Given the description of an element on the screen output the (x, y) to click on. 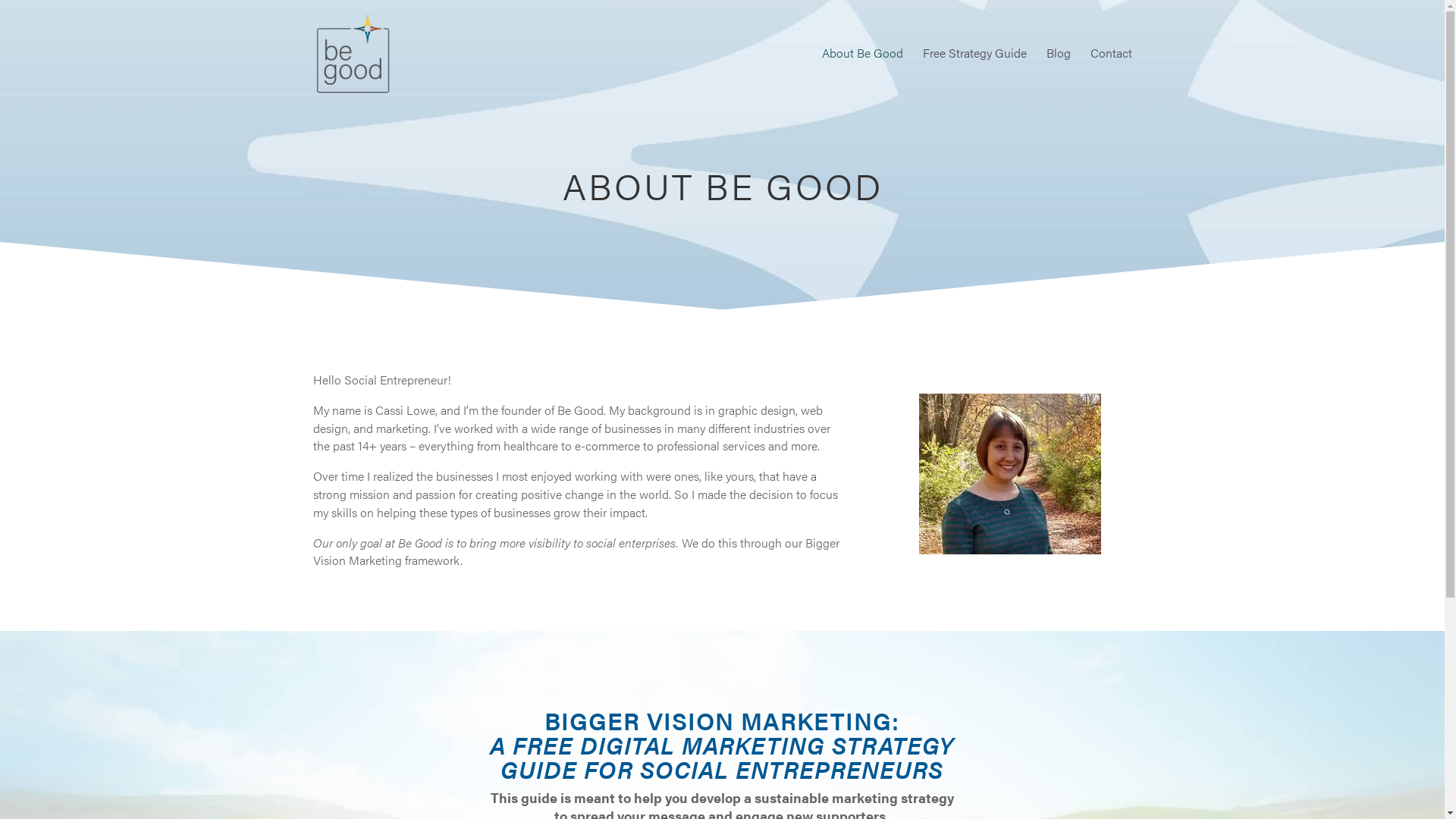
Free Strategy Guide Element type: text (974, 76)
Contact Element type: text (1111, 76)
Blog Element type: text (1058, 76)
About Be Good Element type: text (862, 76)
